Given the description of an element on the screen output the (x, y) to click on. 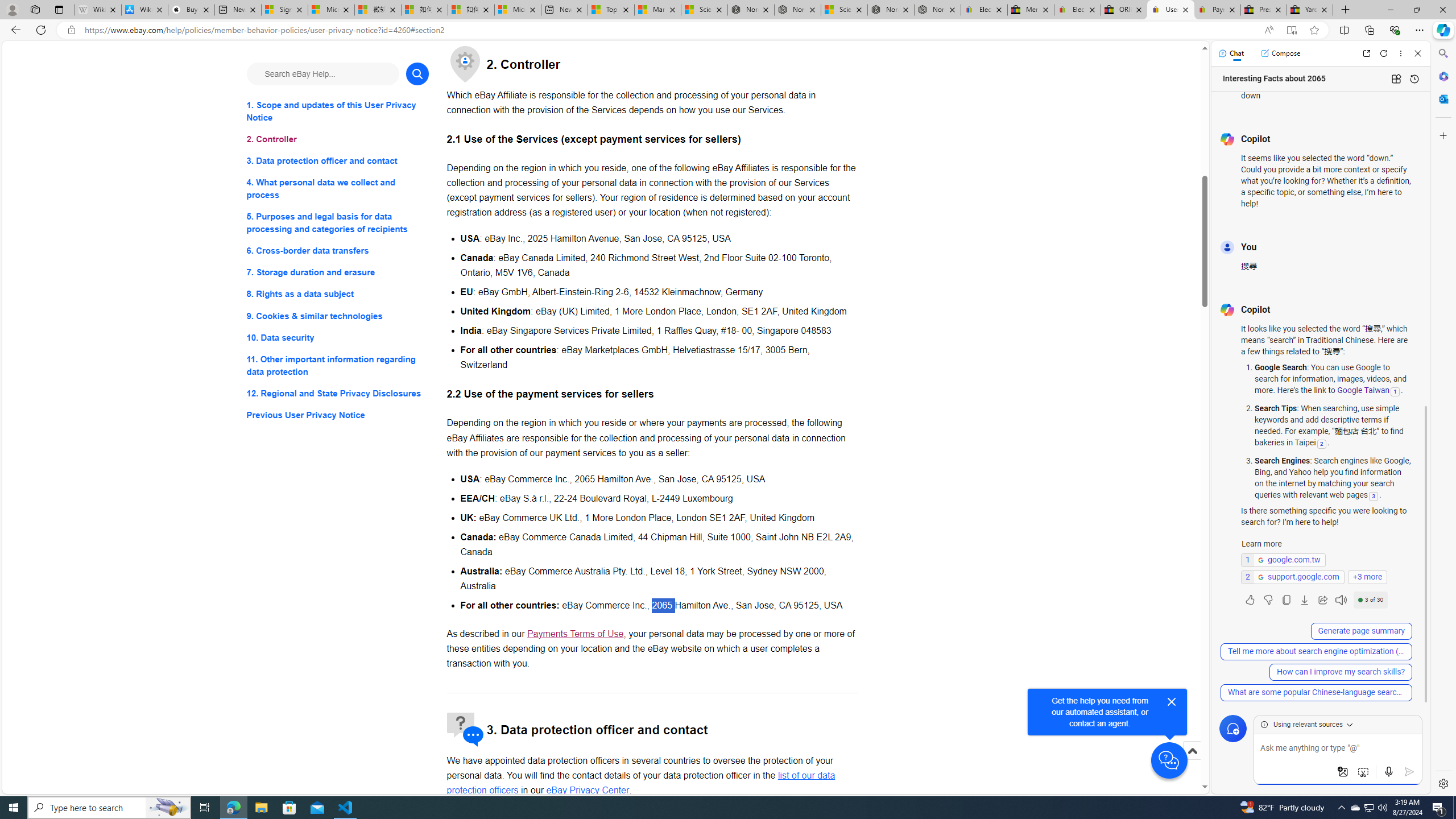
7. Storage duration and erasure (337, 272)
Refresh (1383, 53)
New Tab (1346, 9)
Tab actions menu (58, 9)
Workspaces (34, 9)
Search eBay Help... (322, 73)
Press Room - eBay Inc. (1263, 9)
Minimize (1390, 9)
